Given the description of an element on the screen output the (x, y) to click on. 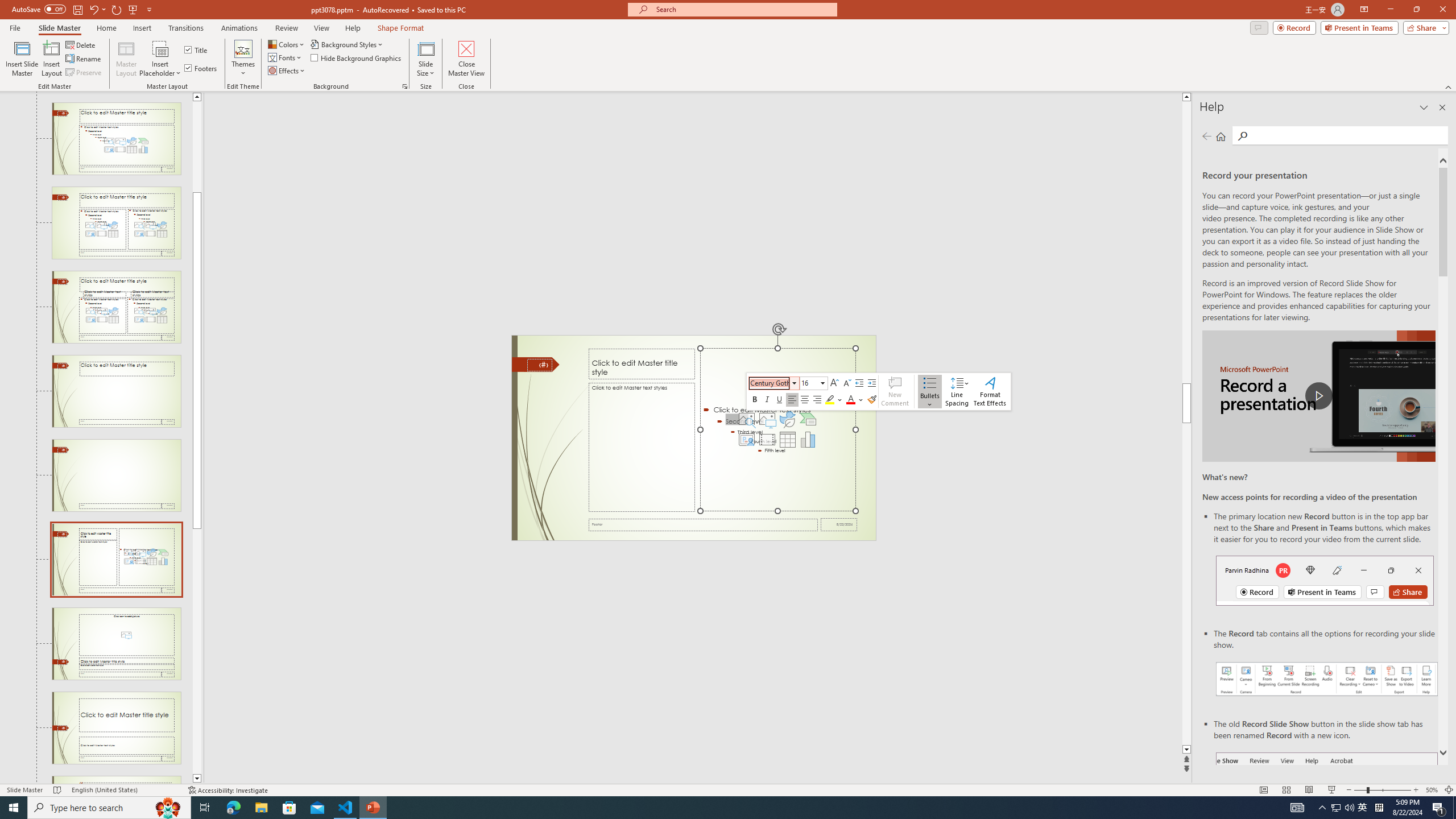
Insert Chart (807, 439)
Hide Background Graphics (356, 56)
Insert Layout (51, 58)
Record your presentations screenshot one (1326, 678)
Preserve (84, 72)
